Given the description of an element on the screen output the (x, y) to click on. 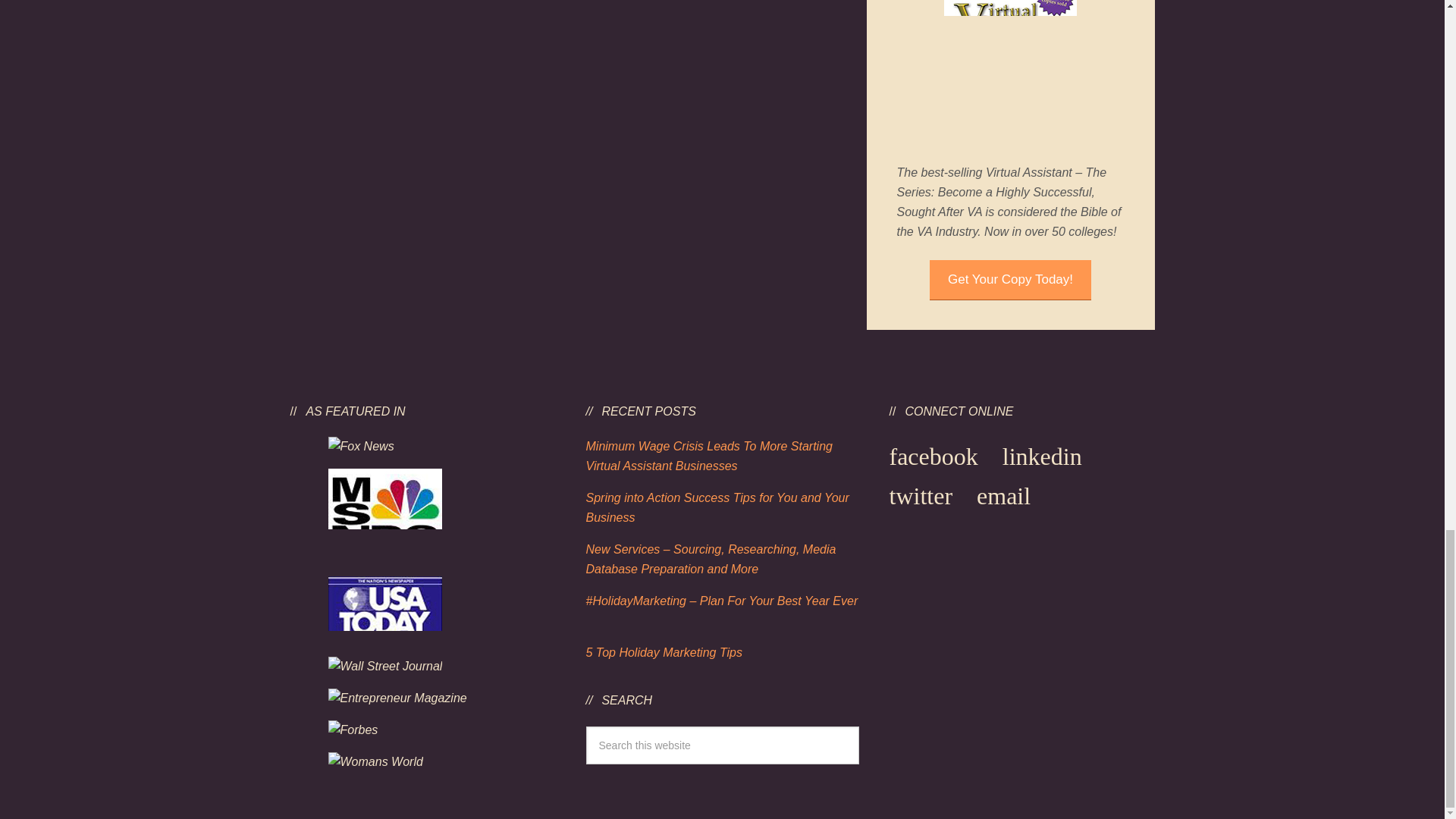
Get Your Copy Today! (1010, 278)
Spring into Action Success Tips for You and Your Business (716, 507)
Get Your Copy Today! (1010, 279)
